Given the description of an element on the screen output the (x, y) to click on. 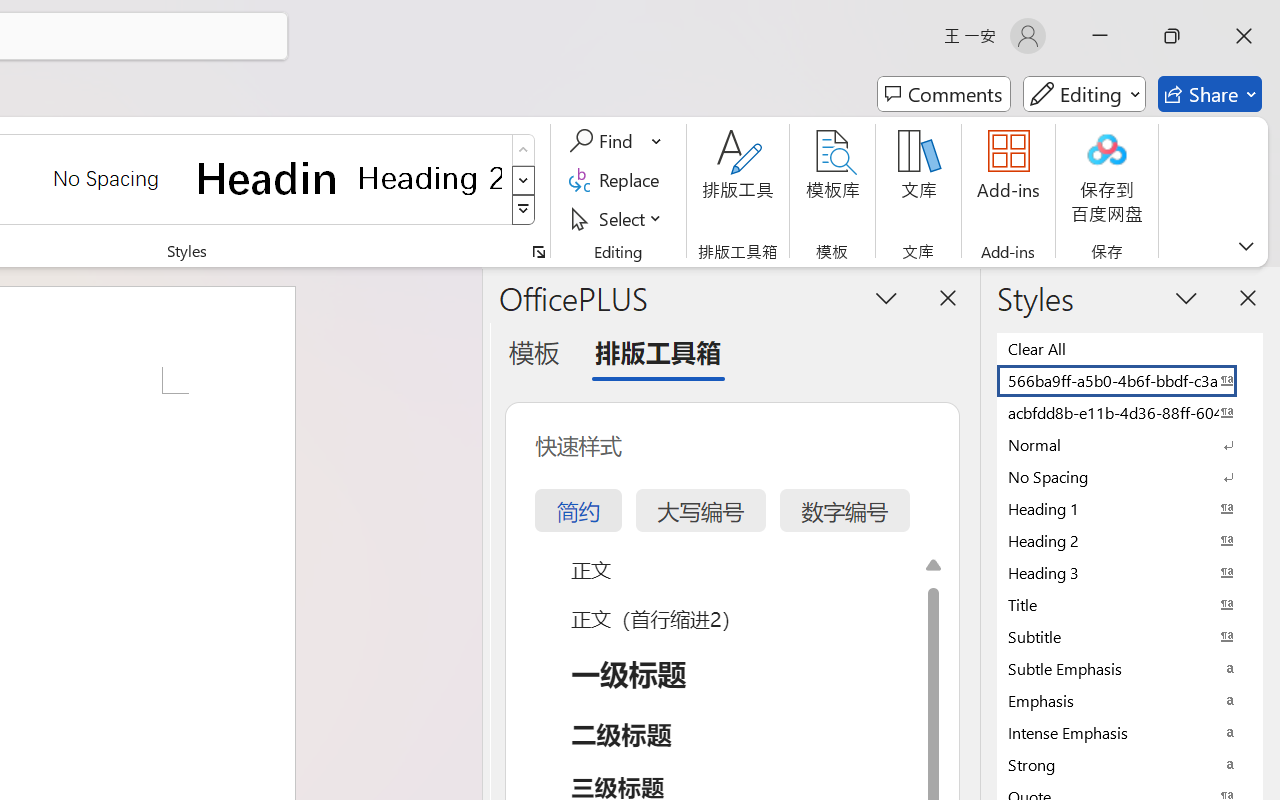
Subtitle (1130, 636)
Minimize (1099, 36)
